Given the description of an element on the screen output the (x, y) to click on. 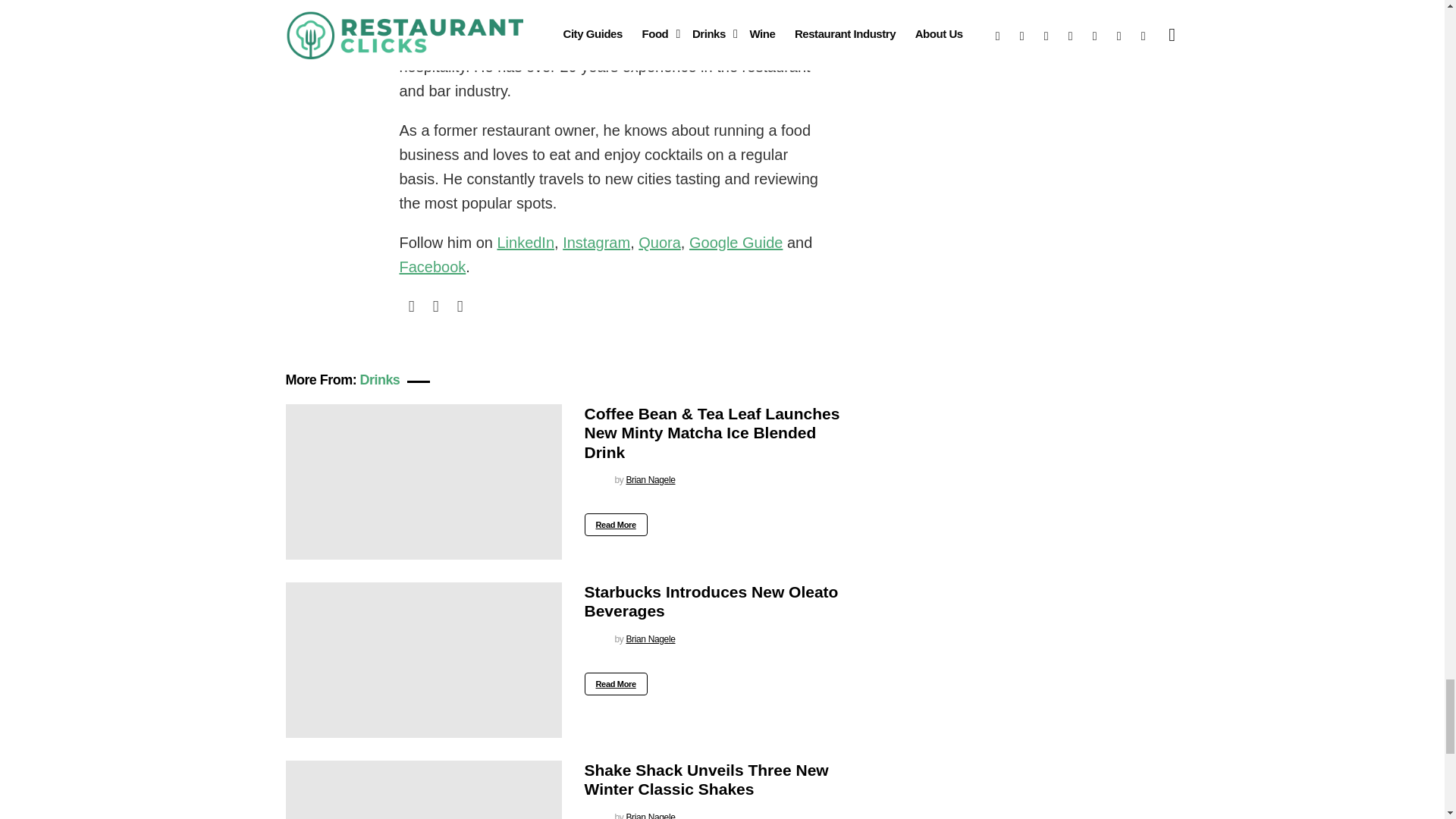
Posts by Brian Nagele (650, 638)
Starbucks Introduces New Oleato Beverages (422, 659)
Posts by Brian Nagele (650, 480)
Posts by Brian Nagele (650, 815)
Shake Shack Unveils Three New Winter Classic Shakes (422, 789)
